Given the description of an element on the screen output the (x, y) to click on. 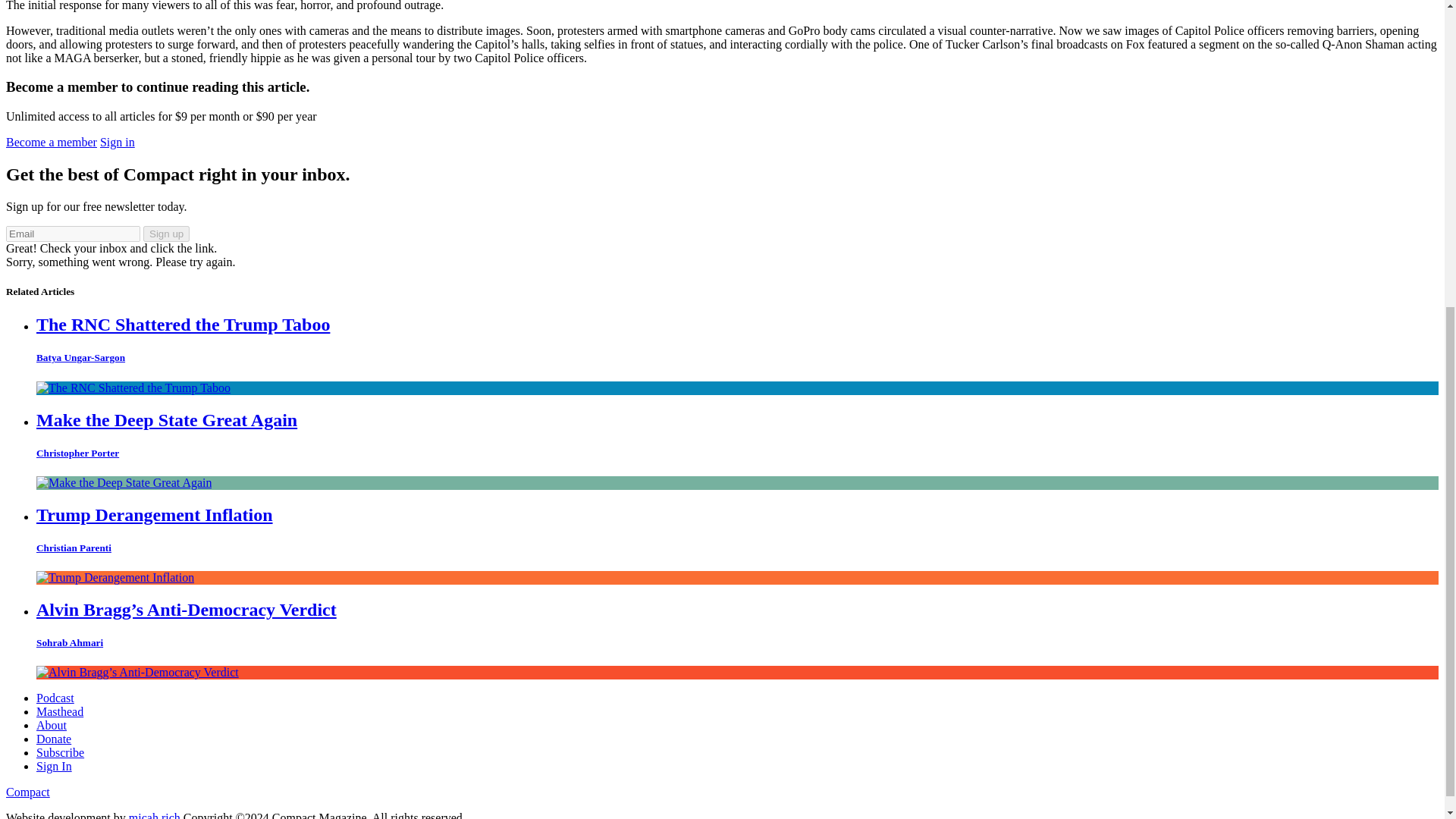
Christian Parenti (74, 547)
Sign up (165, 233)
Sohrab Ahmari (69, 642)
Sign In (53, 766)
The RNC Shattered the Trump Taboo (183, 324)
Make the Deep State Great Again (166, 419)
Compact (27, 791)
Masthead (59, 711)
Become a member (51, 141)
Podcast (55, 697)
